Given the description of an element on the screen output the (x, y) to click on. 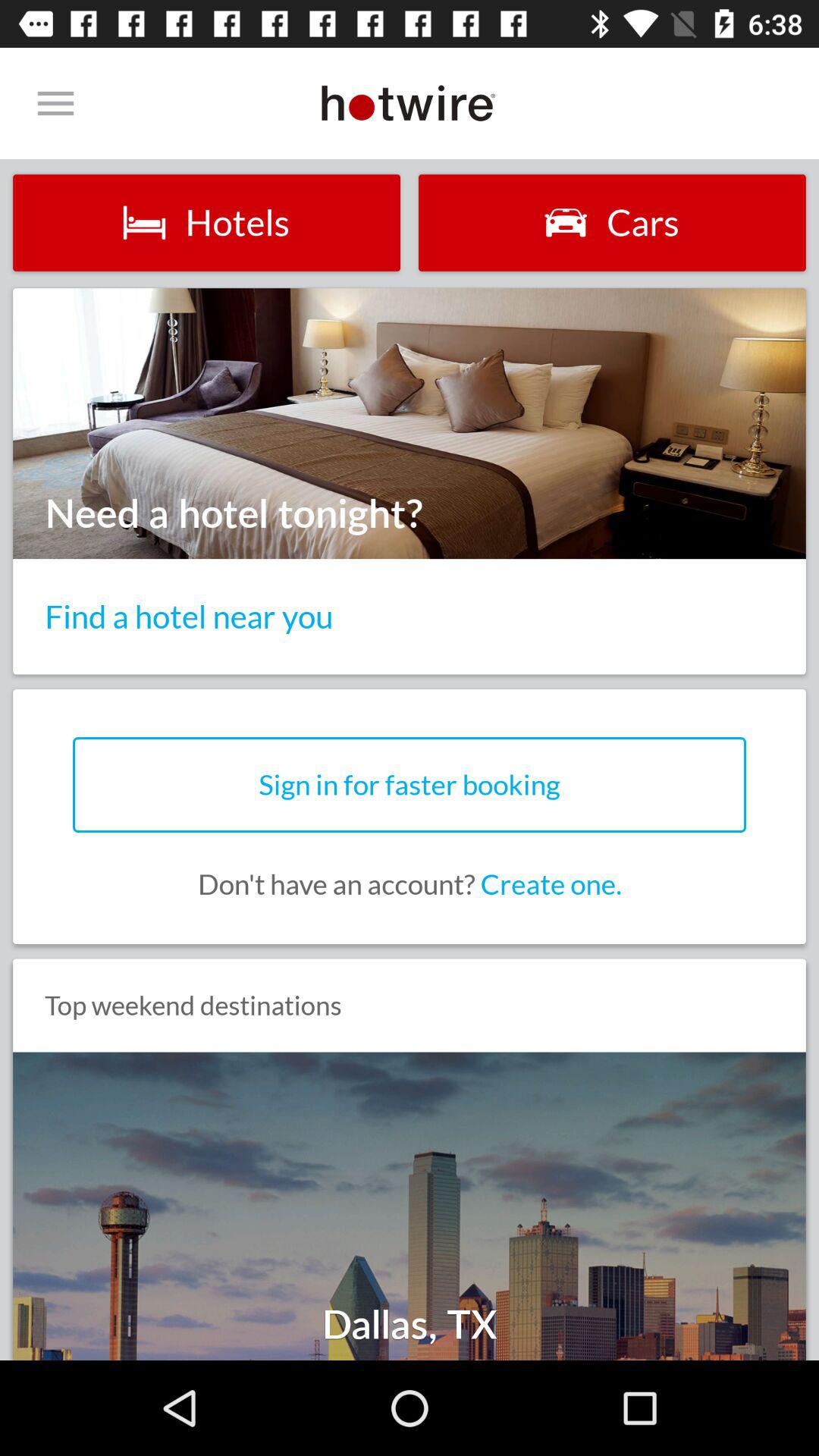
flip to don t have icon (409, 884)
